Given the description of an element on the screen output the (x, y) to click on. 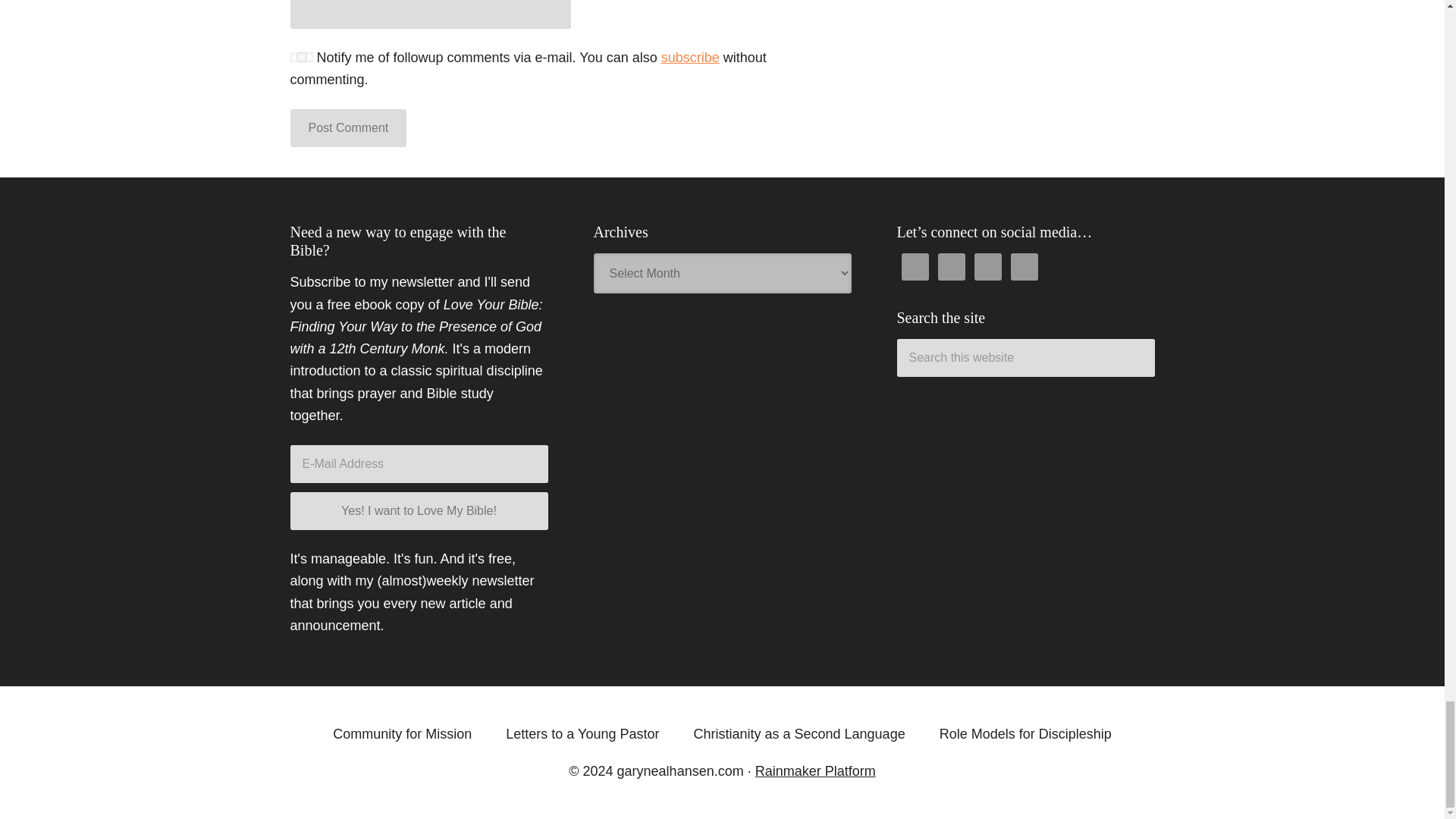
Yes! I want to Love My Bible! (418, 510)
yes (301, 57)
Post Comment (347, 127)
